Given the description of an element on the screen output the (x, y) to click on. 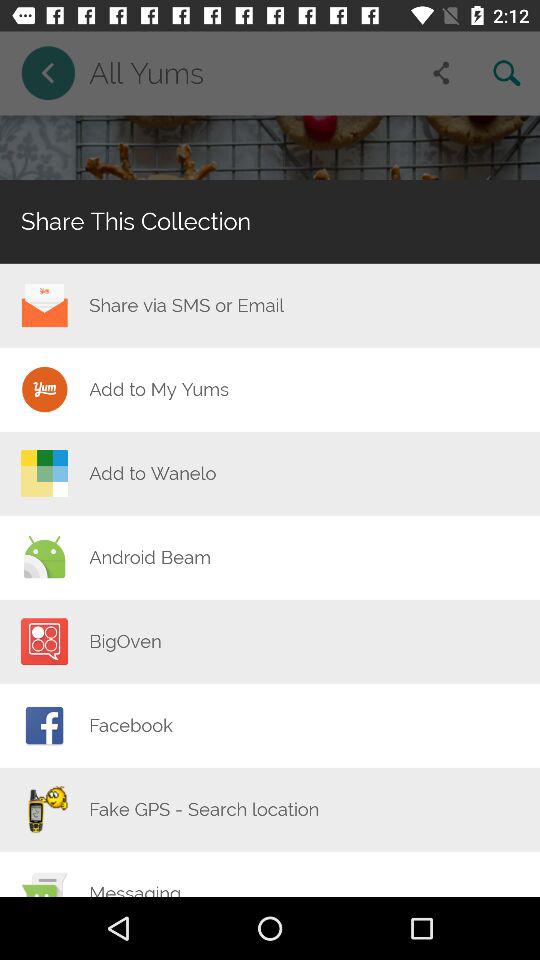
click the icon below share this collection (186, 305)
